Given the description of an element on the screen output the (x, y) to click on. 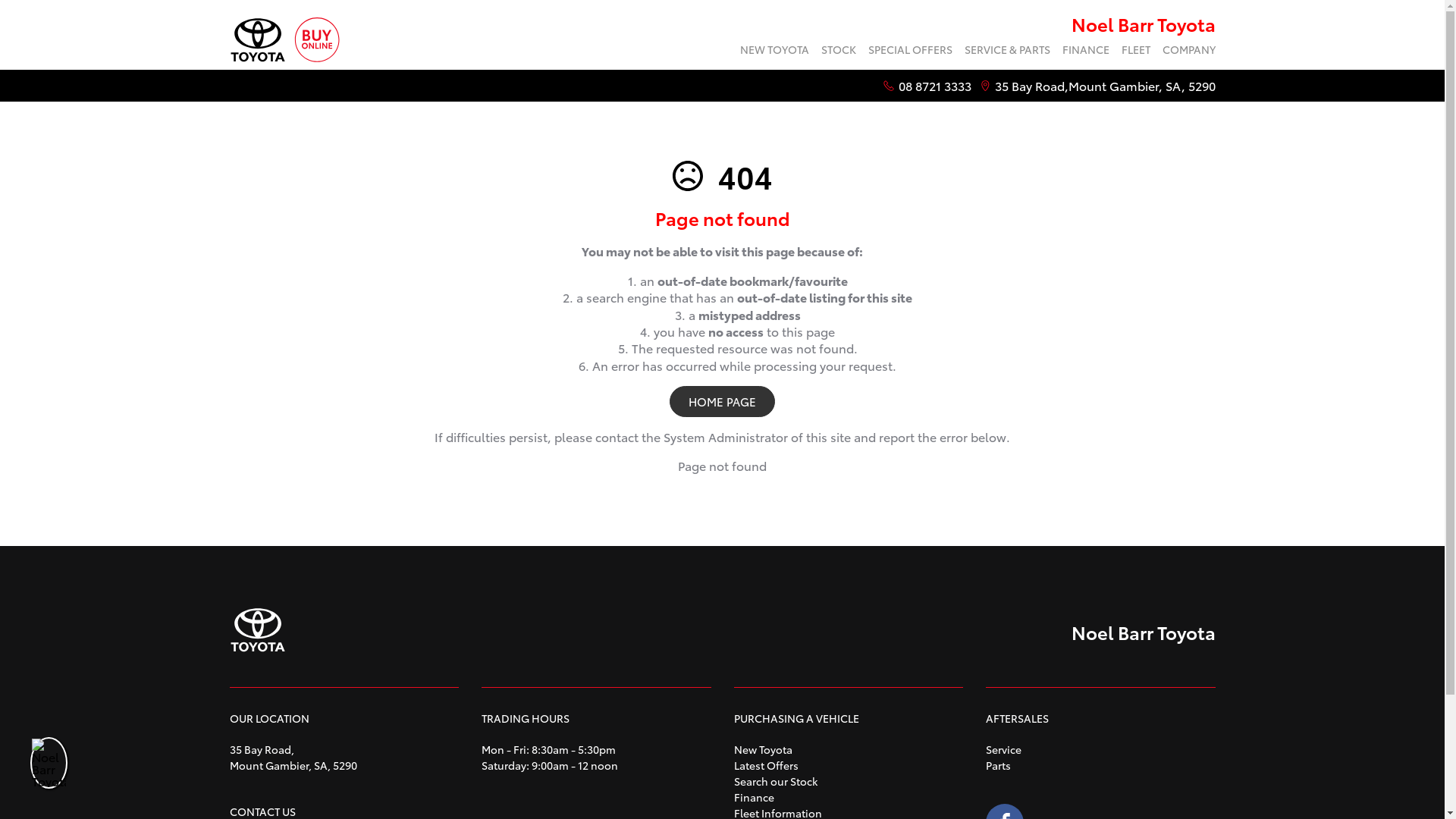
SPECIAL OFFERS Element type: text (909, 51)
SERVICE & PARTS Element type: text (1007, 51)
FLEET Element type: text (1134, 51)
Search our Stock Element type: text (775, 780)
HOME PAGE Element type: text (722, 401)
35 Bay Road,Mount Gambier, SA, 5290 Element type: text (1104, 85)
Latest Offers Element type: text (766, 764)
Service Element type: text (1003, 748)
Parts Element type: text (997, 764)
STOCK Element type: text (837, 51)
FINANCE Element type: text (1084, 51)
COMPANY Element type: text (1184, 51)
08 8721 3333 Element type: text (933, 85)
New Toyota Element type: text (763, 748)
NEW TOYOTA Element type: text (774, 51)
Finance Element type: text (754, 796)
